Given the description of an element on the screen output the (x, y) to click on. 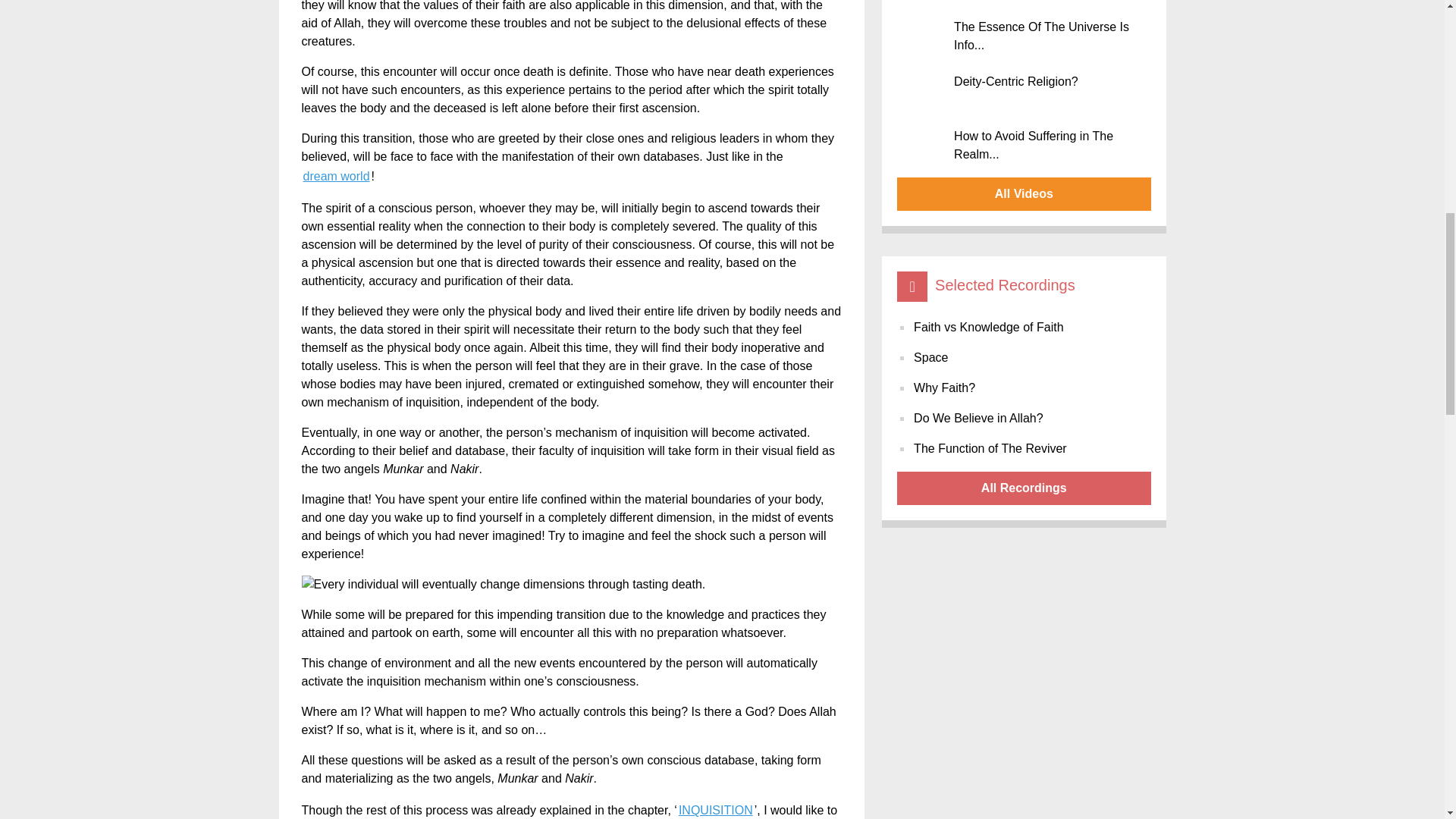
Do We Believe in Allah? (977, 418)
Deity-Centric Religion? (1025, 87)
How to Avoid Suffering in The Realm of The Grave (1025, 142)
Faith vs Knowledge of Faith (988, 327)
The Essence Of The Universe Is Information (1025, 33)
Why Faith? (944, 387)
Space (930, 357)
